Given the description of an element on the screen output the (x, y) to click on. 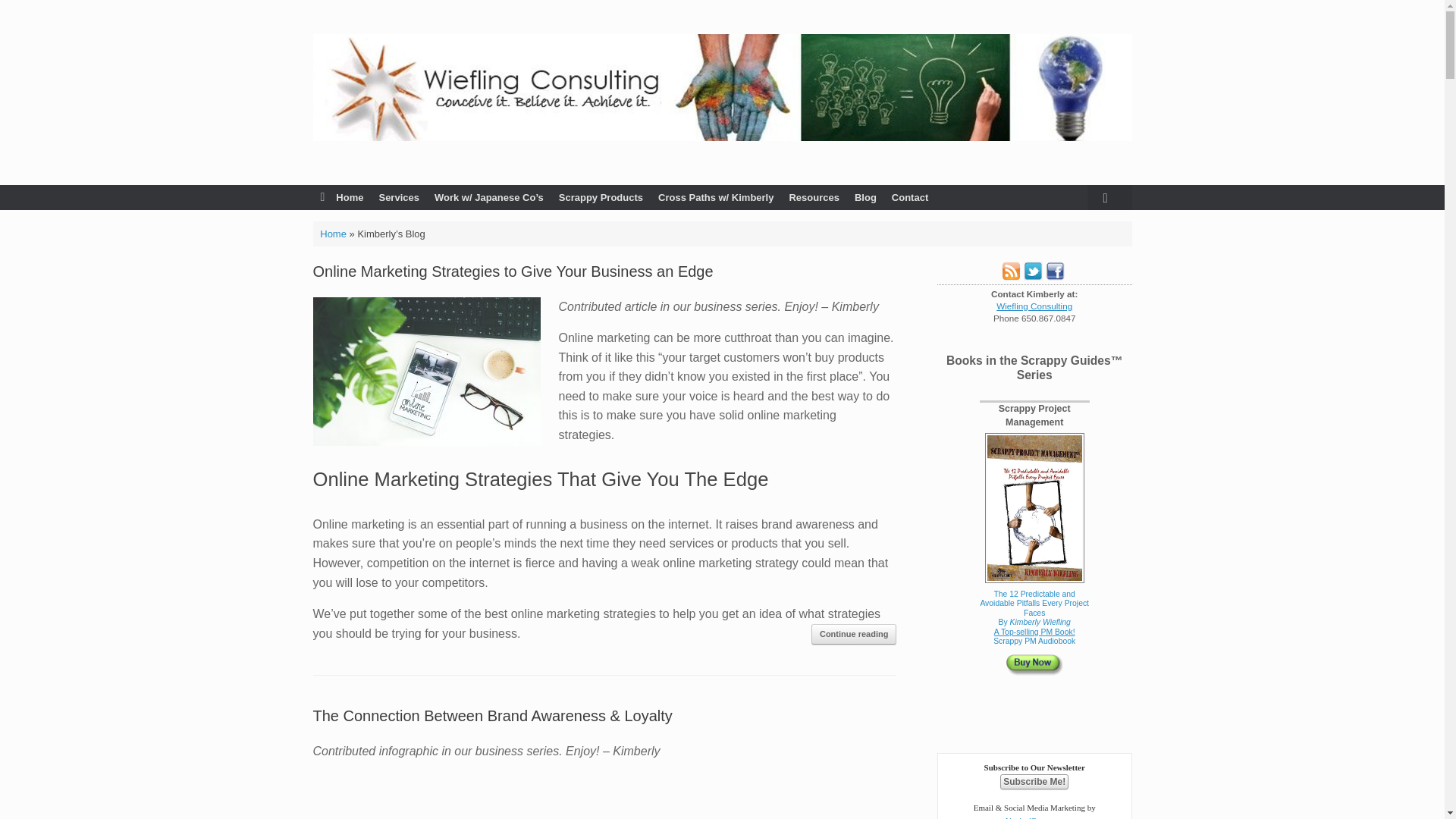
Subscribe Me! (1034, 781)
Connect on Facebook (1054, 276)
Buy Scrappy Project Management (1034, 607)
Home (342, 197)
Services (398, 197)
Wiefling Consulting (722, 87)
Follow us on twitter (1032, 276)
Scrappy Products (600, 197)
Subscribe to our feed (1010, 276)
